Given the description of an element on the screen output the (x, y) to click on. 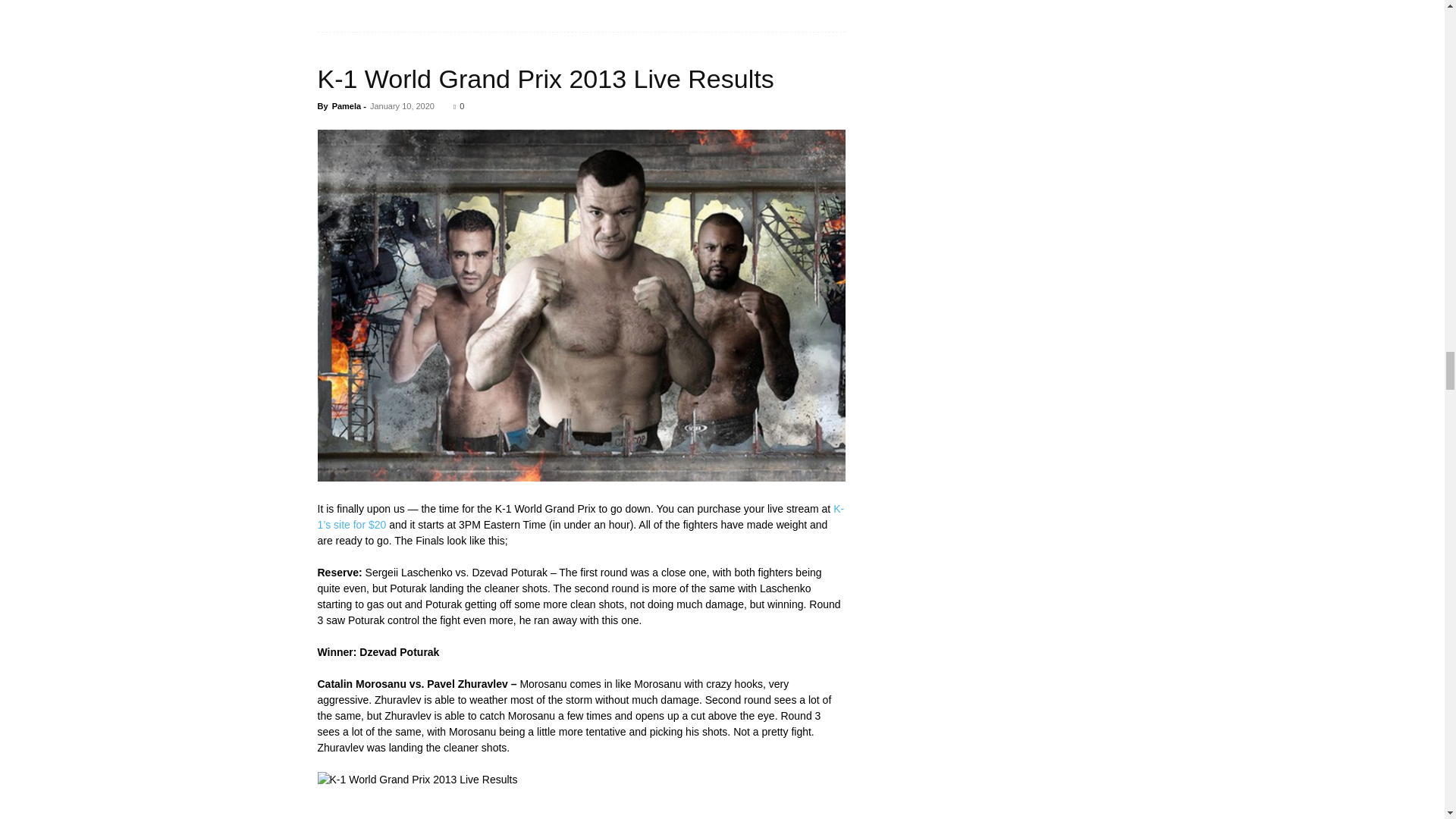
K-1 World Grand Prix 2013 Live Results (545, 78)
